Given the description of an element on the screen output the (x, y) to click on. 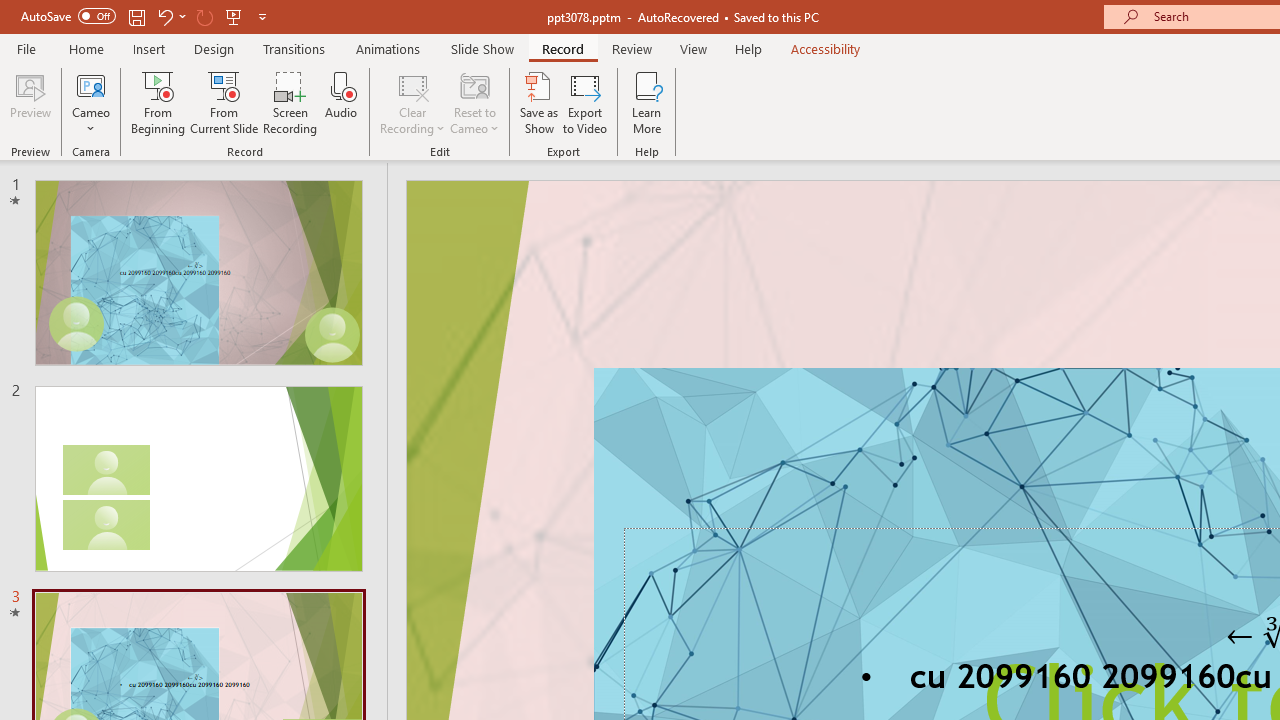
Export to Video (585, 102)
